Given the description of an element on the screen output the (x, y) to click on. 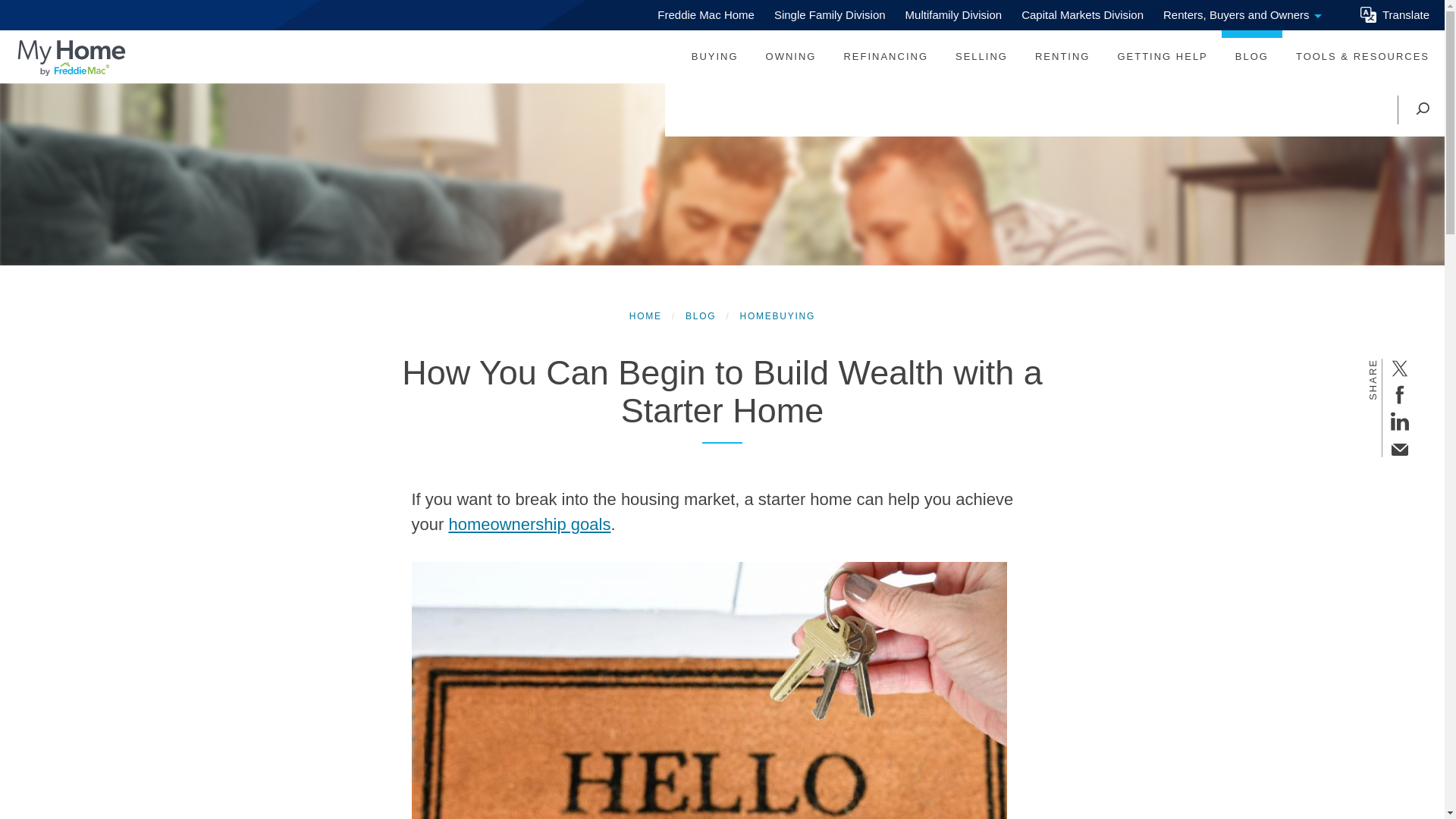
GETTING HELP (1162, 56)
BUYING (714, 56)
SELLING (982, 56)
RENTING (1240, 15)
Translate (1062, 56)
OWNING (1394, 15)
Single Family Division (790, 56)
Multifamily Division (827, 15)
Skip to main content (951, 15)
Capital Markets Division (703, 15)
REFINANCING (1080, 15)
BLOG (885, 56)
